Given the description of an element on the screen output the (x, y) to click on. 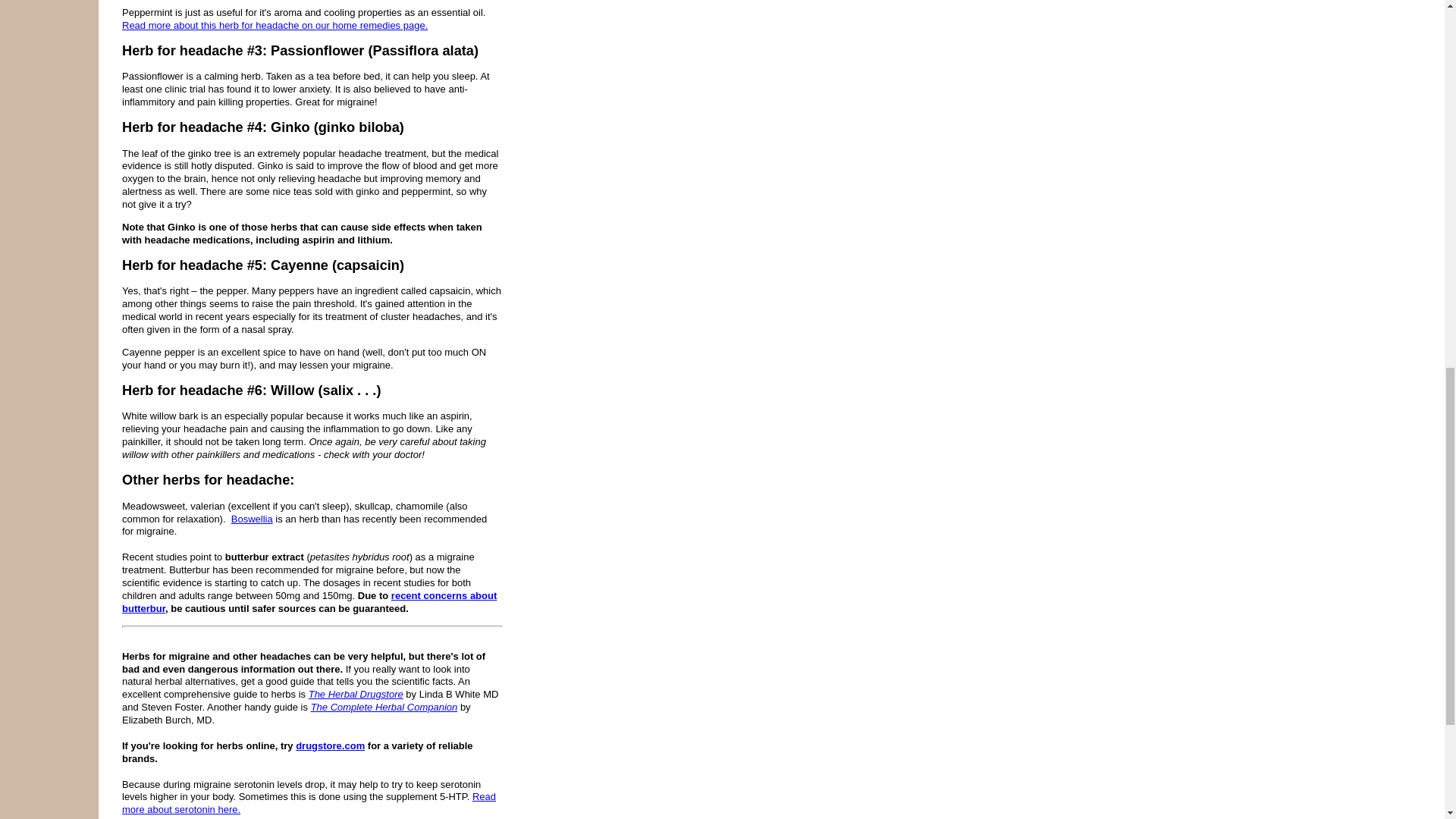
Read more about serotonin here. (309, 802)
The Herbal Drugstore (355, 694)
Boswellia (252, 518)
The Complete Herbal Companion (384, 706)
recent concerns about butterbur (309, 601)
drugstore.com (330, 745)
